Given the description of an element on the screen output the (x, y) to click on. 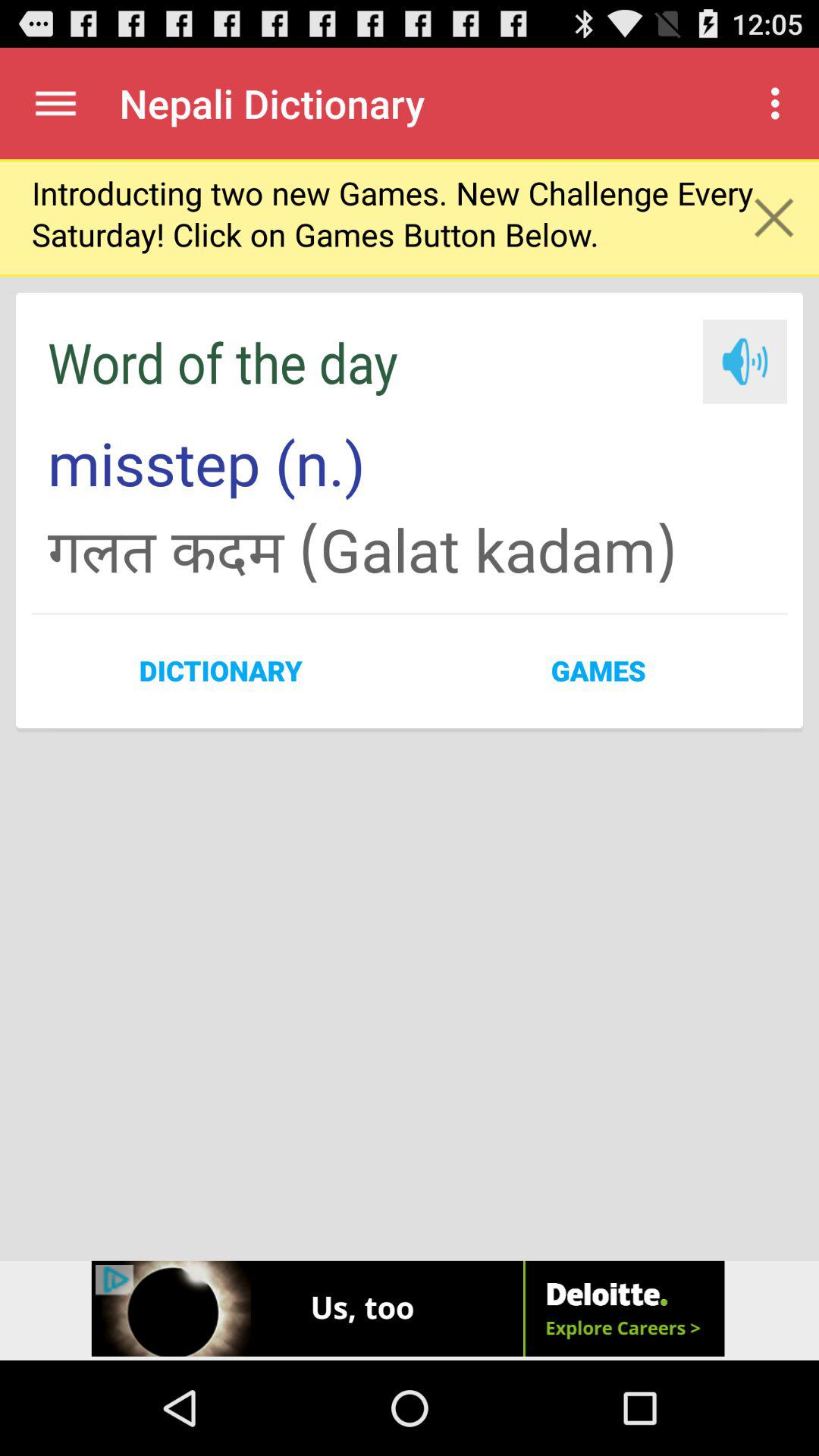
advertisement for deloitte (409, 1310)
